Given the description of an element on the screen output the (x, y) to click on. 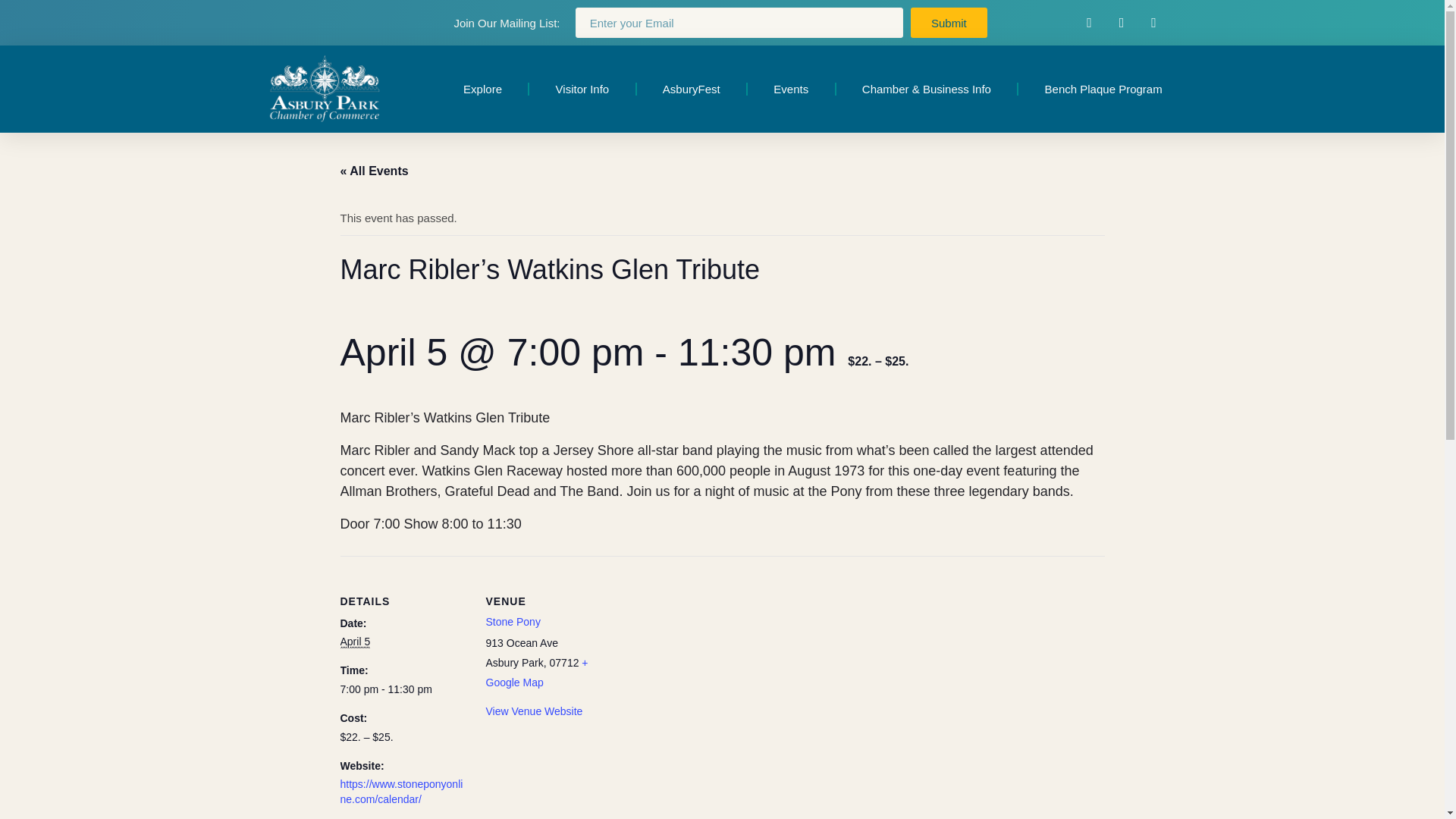
Submit (949, 22)
Bench Plaque Program (1103, 89)
Google maps iframe displaying the address to Stone Pony (710, 660)
2024-04-05 (403, 689)
Visitor Info (582, 89)
Explore (482, 89)
AsburyFest (691, 89)
Click to view a Google Map (536, 672)
2024-04-05 (354, 641)
Events (791, 89)
